Given the description of an element on the screen output the (x, y) to click on. 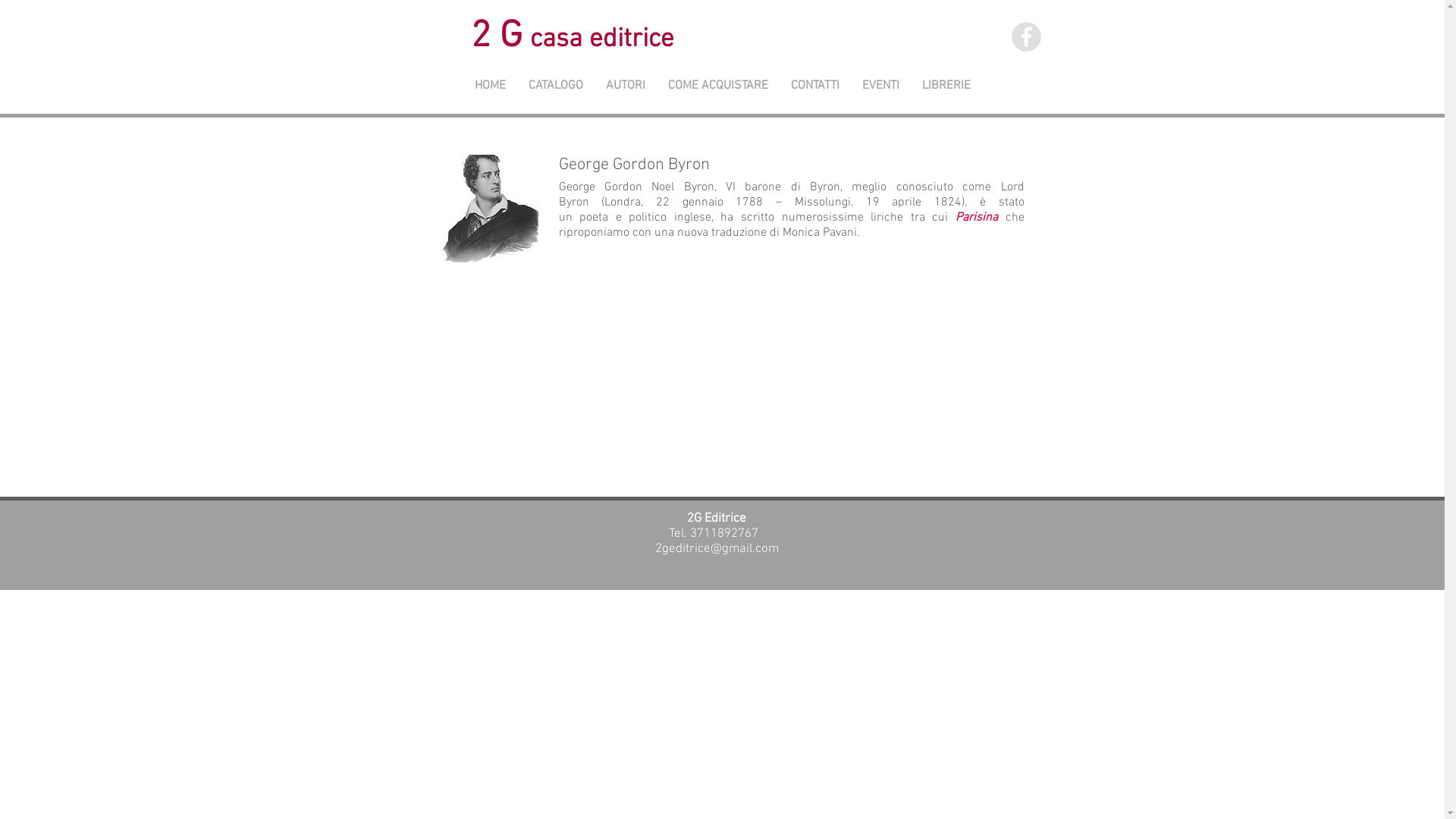
Byron.jpg Element type: hover (488, 208)
HOME Element type: text (489, 86)
AUTORI Element type: text (625, 86)
LIBRERIE Element type: text (945, 86)
CONTATTI Element type: text (814, 86)
CATALOGO Element type: text (555, 86)
COME ACQUISTARE Element type: text (717, 86)
Parisina Element type: text (976, 217)
2geditrice@gmail.com Element type: text (716, 548)
2 G casa editrice Element type: text (572, 38)
EVENTI Element type: text (880, 86)
